Given the description of an element on the screen output the (x, y) to click on. 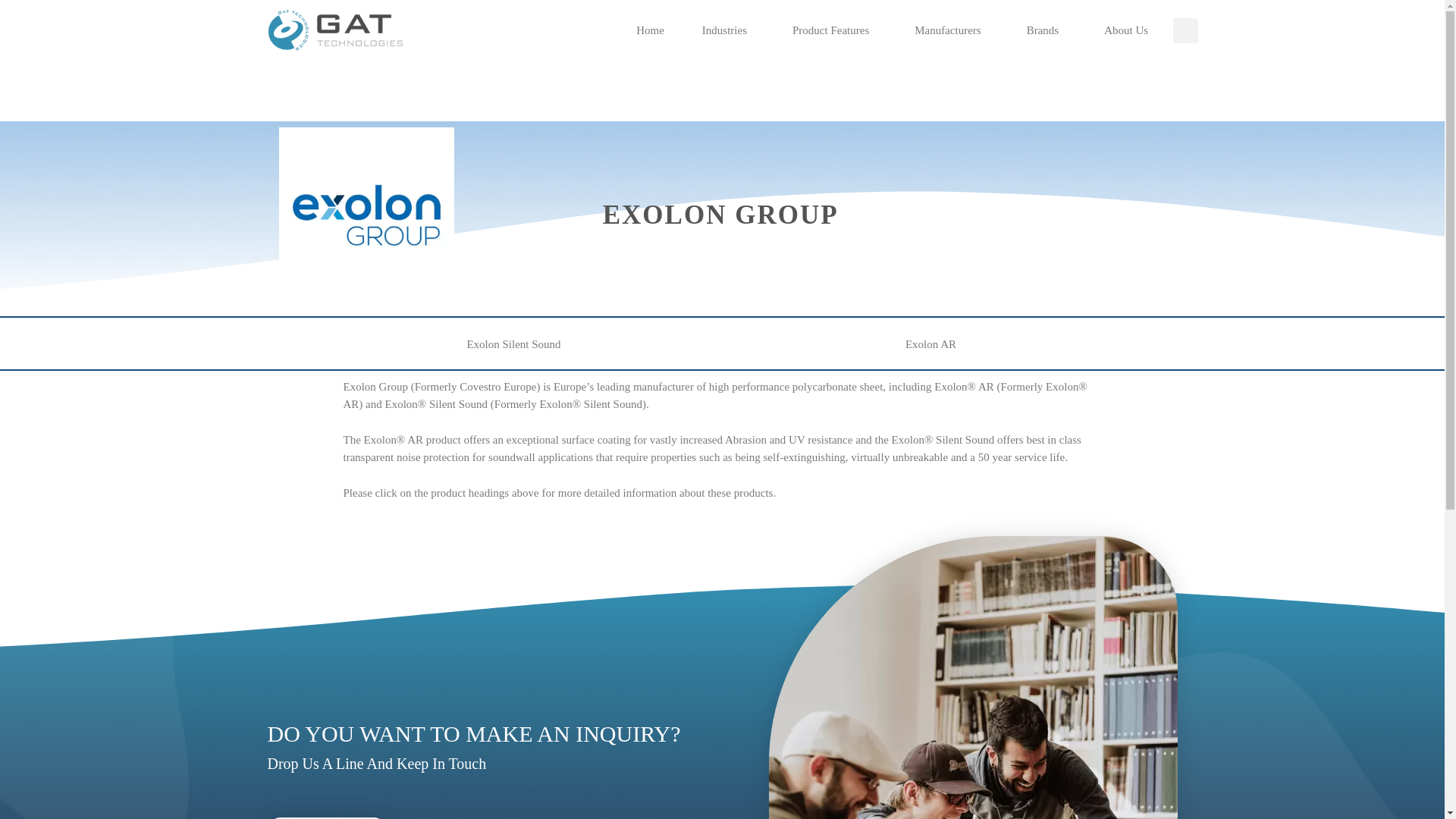
Exolon AR Element type: text (930, 344)
Brands Element type: text (1046, 30)
Product Features Element type: text (834, 30)
About Us Element type: text (1125, 30)
Exolon Silent Sound Element type: text (513, 344)
Industries Element type: text (728, 30)
Home Element type: text (650, 30)
Manufacturers Element type: text (951, 30)
